Given the description of an element on the screen output the (x, y) to click on. 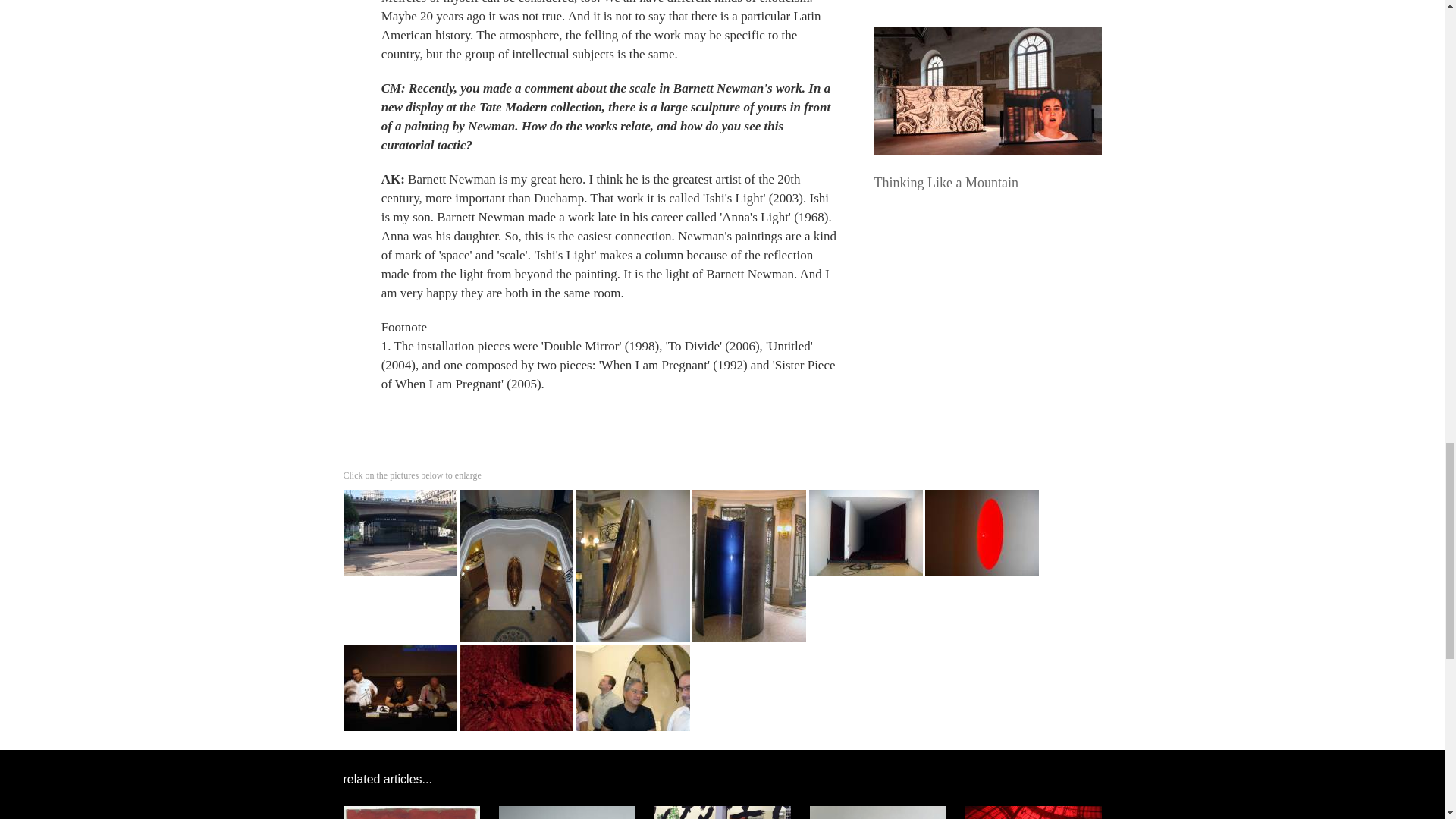
Thinking Like a Mountain (945, 182)
